Given the description of an element on the screen output the (x, y) to click on. 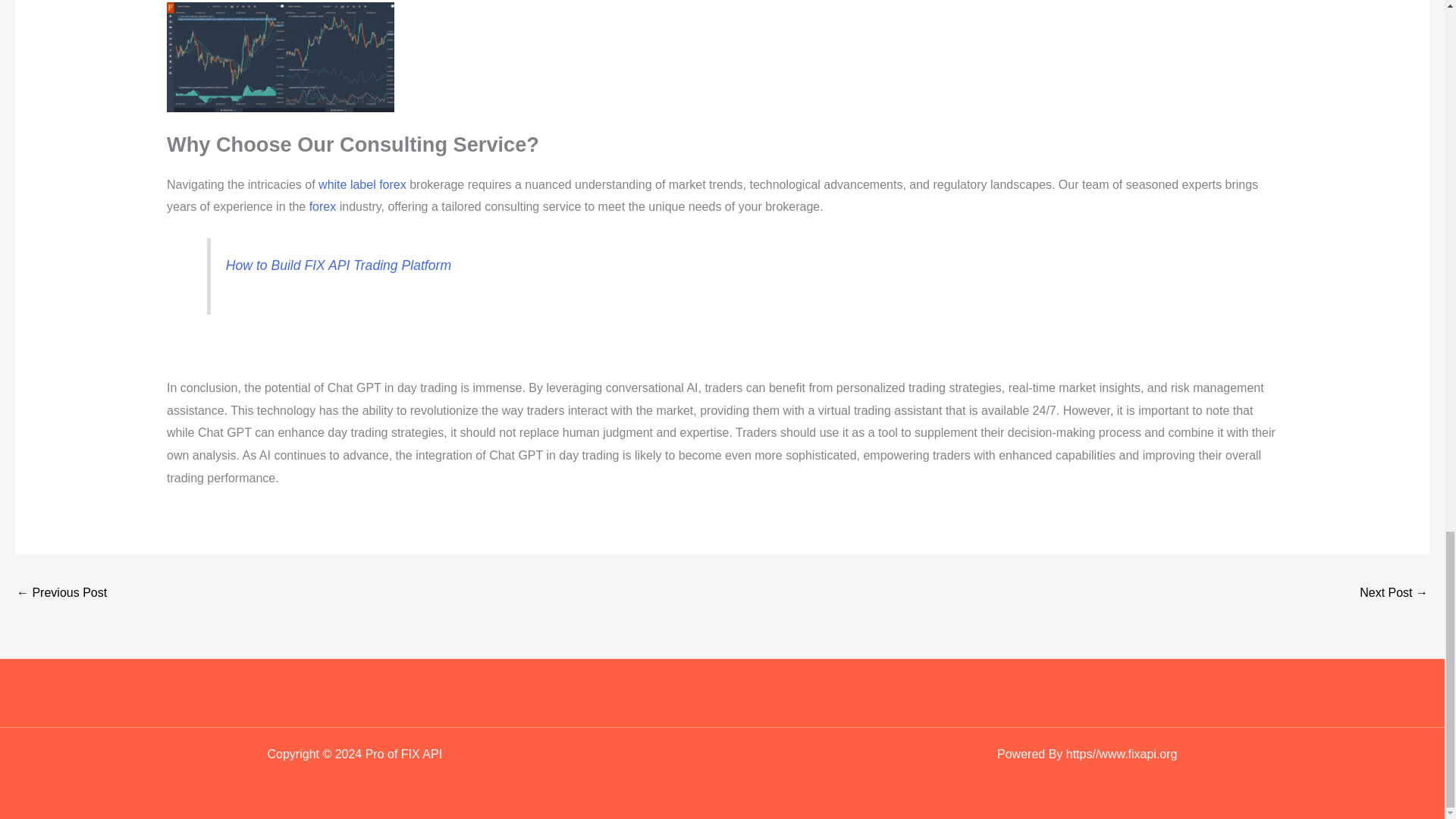
forex (322, 205)
white label (346, 184)
forex (392, 184)
Using ChatGPT to Trade Stocks : An Innovative Approach" (1393, 593)
